Given the description of an element on the screen output the (x, y) to click on. 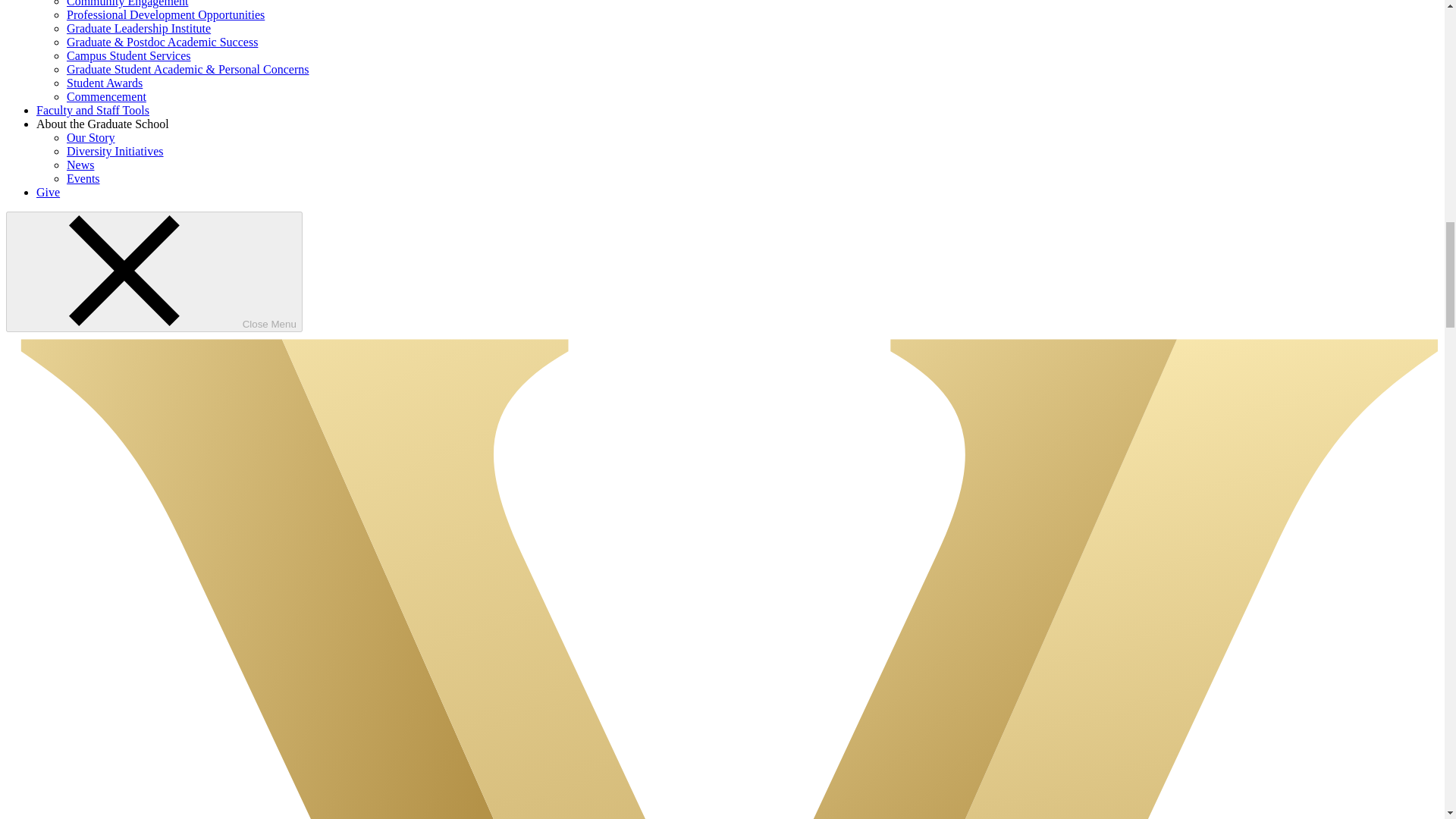
Diversity Initiatives (114, 151)
Student Awards (104, 82)
Commencement (106, 96)
Give (47, 192)
News (80, 164)
Close Menu (153, 271)
Faculty and Staff Tools (92, 110)
Professional Development Opportunities (165, 14)
Campus Student Services (128, 55)
About the Graduate School (102, 123)
Events (83, 178)
Our Story (90, 137)
Community Engagement (126, 3)
Graduate Leadership Institute (138, 28)
